Given the description of an element on the screen output the (x, y) to click on. 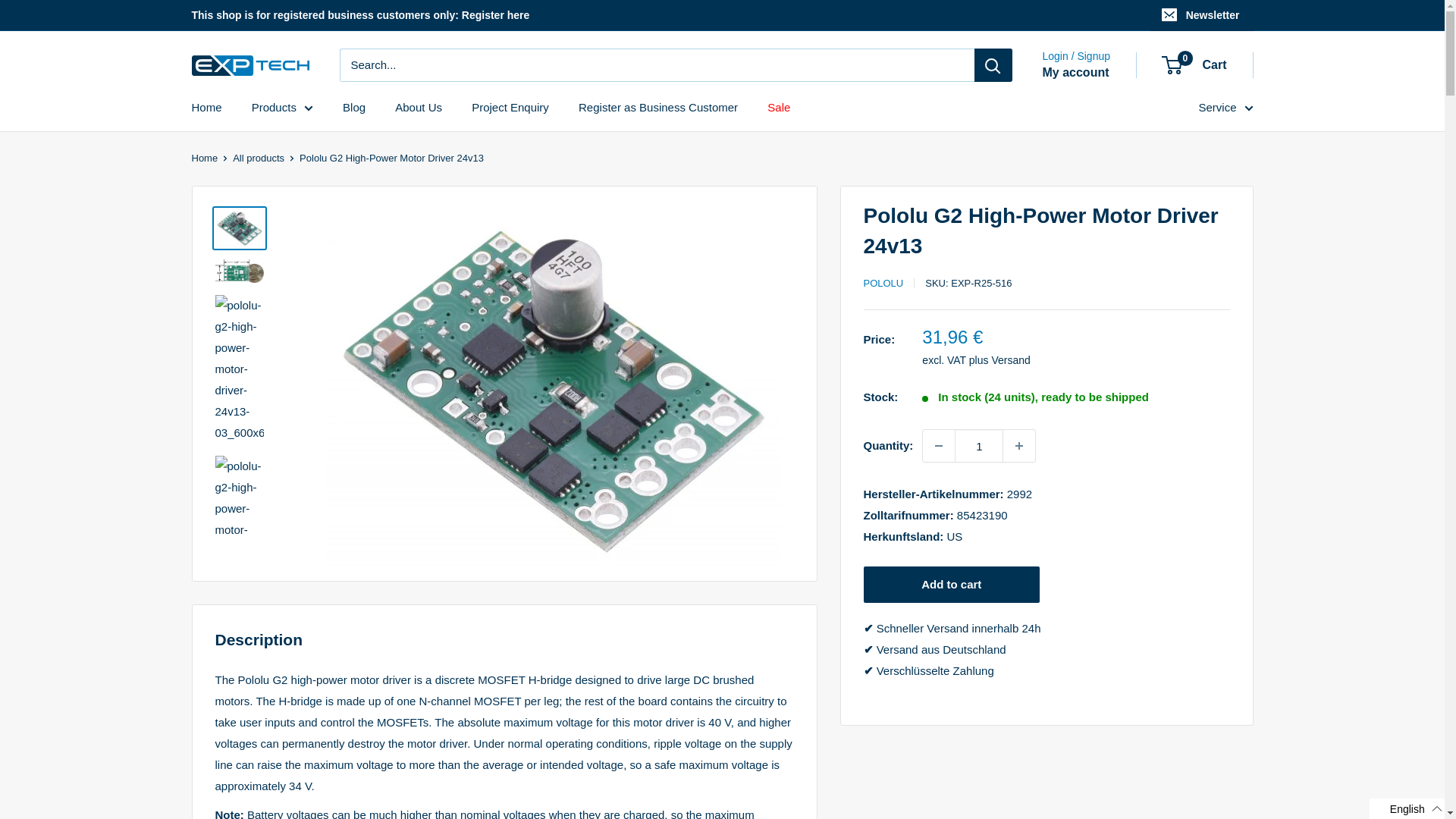
Newsletter (1201, 15)
Increase quantity by 1 (1019, 445)
1 (979, 445)
Decrease quantity by 1 (939, 445)
